Given the description of an element on the screen output the (x, y) to click on. 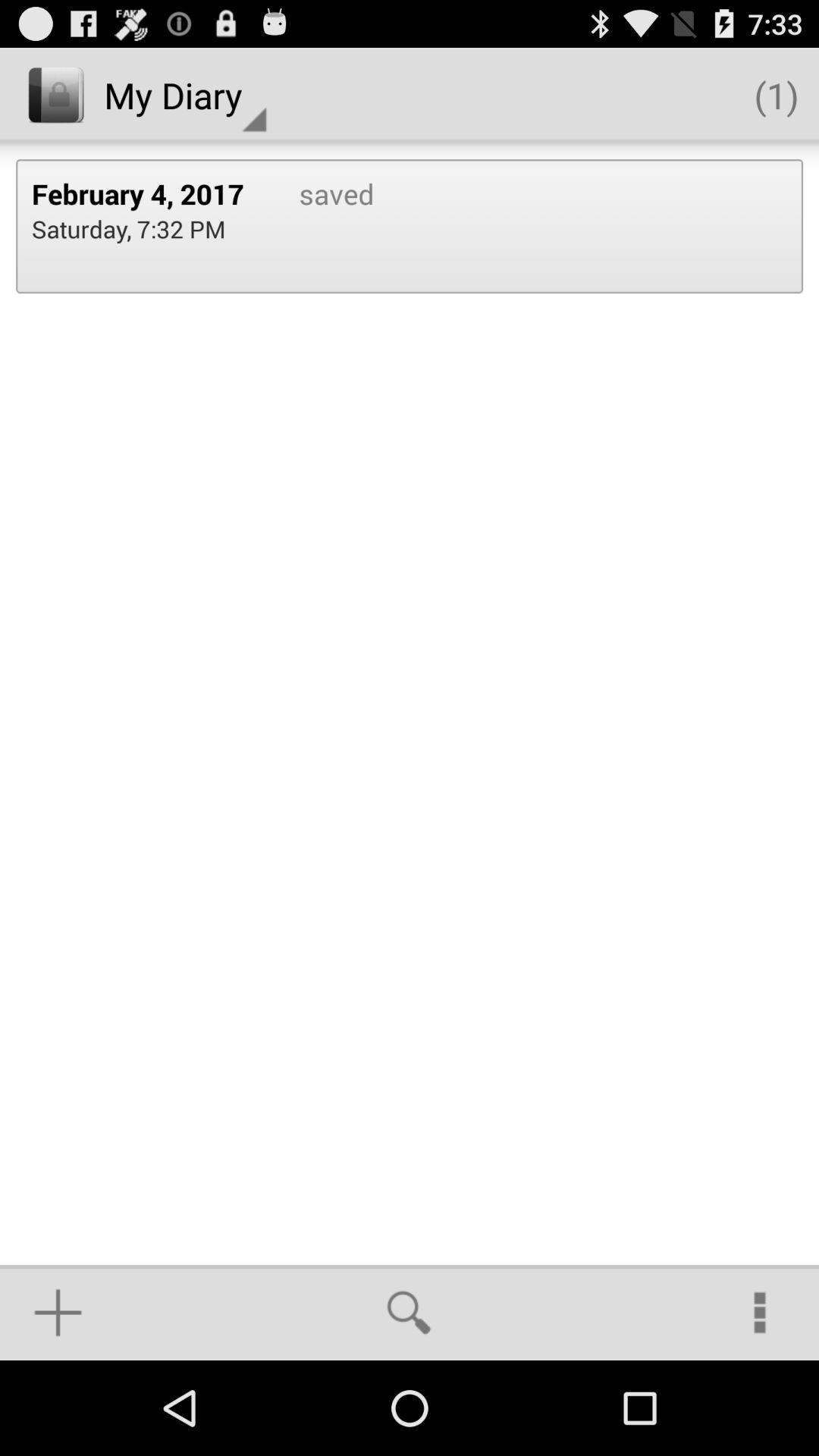
launch saturday 7 32 item (128, 228)
